Given the description of an element on the screen output the (x, y) to click on. 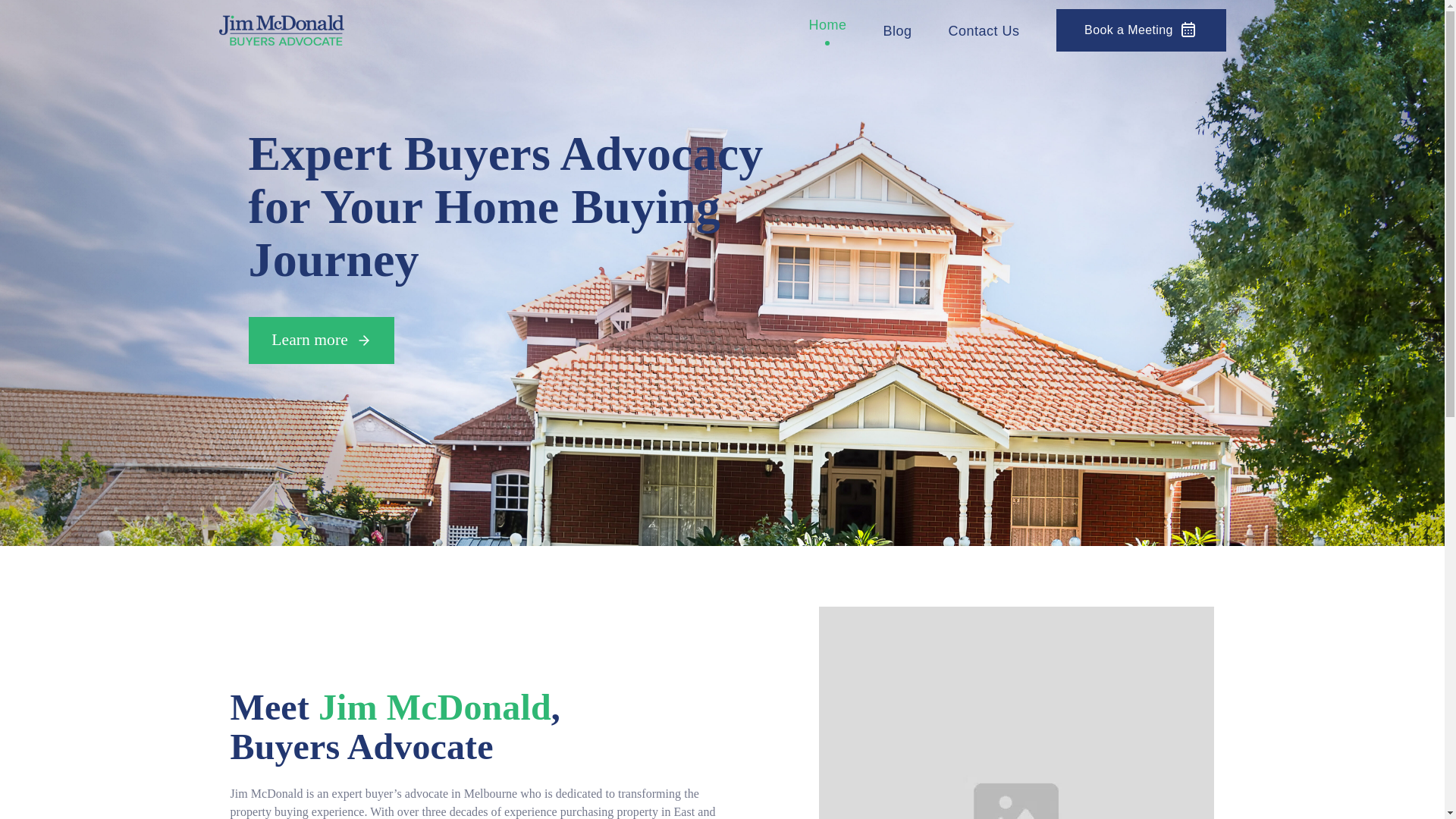
Book a Meeting (1140, 30)
Learn more (321, 339)
Home (826, 30)
Contact Us (983, 36)
